Given the description of an element on the screen output the (x, y) to click on. 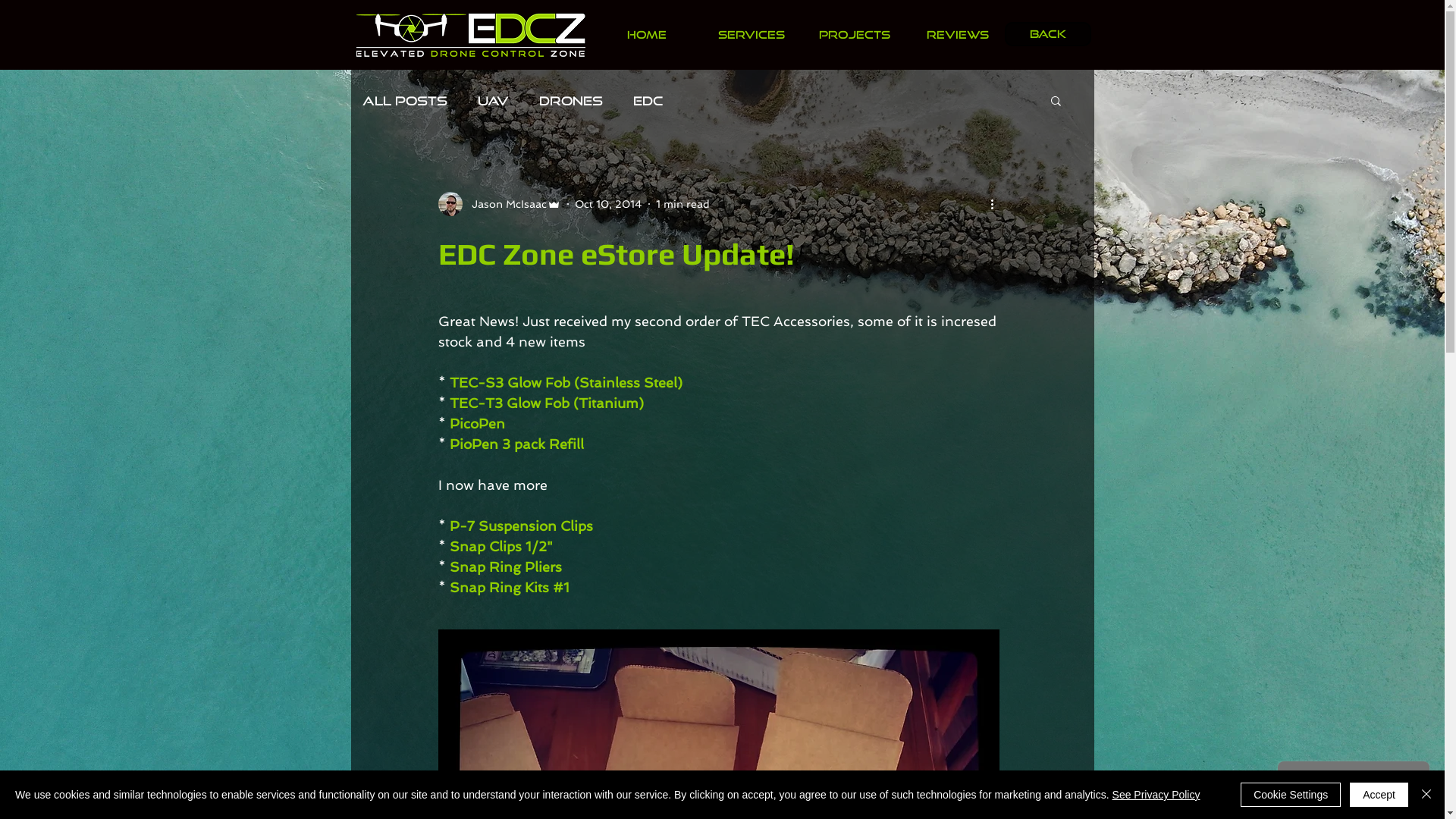
Drones Element type: text (570, 99)
Jason McIsaac Element type: text (499, 203)
Services Element type: text (751, 34)
Accept Element type: text (1378, 794)
All Posts Element type: text (404, 99)
See Privacy Policy Element type: text (1156, 794)
UAV Element type: text (492, 99)
Home Element type: text (646, 34)
BACK Element type: text (1047, 33)
Reviews Element type: text (956, 34)
Cookie Settings Element type: text (1290, 794)
Projects Element type: text (853, 34)
EDC Element type: text (647, 99)
